Given the description of an element on the screen output the (x, y) to click on. 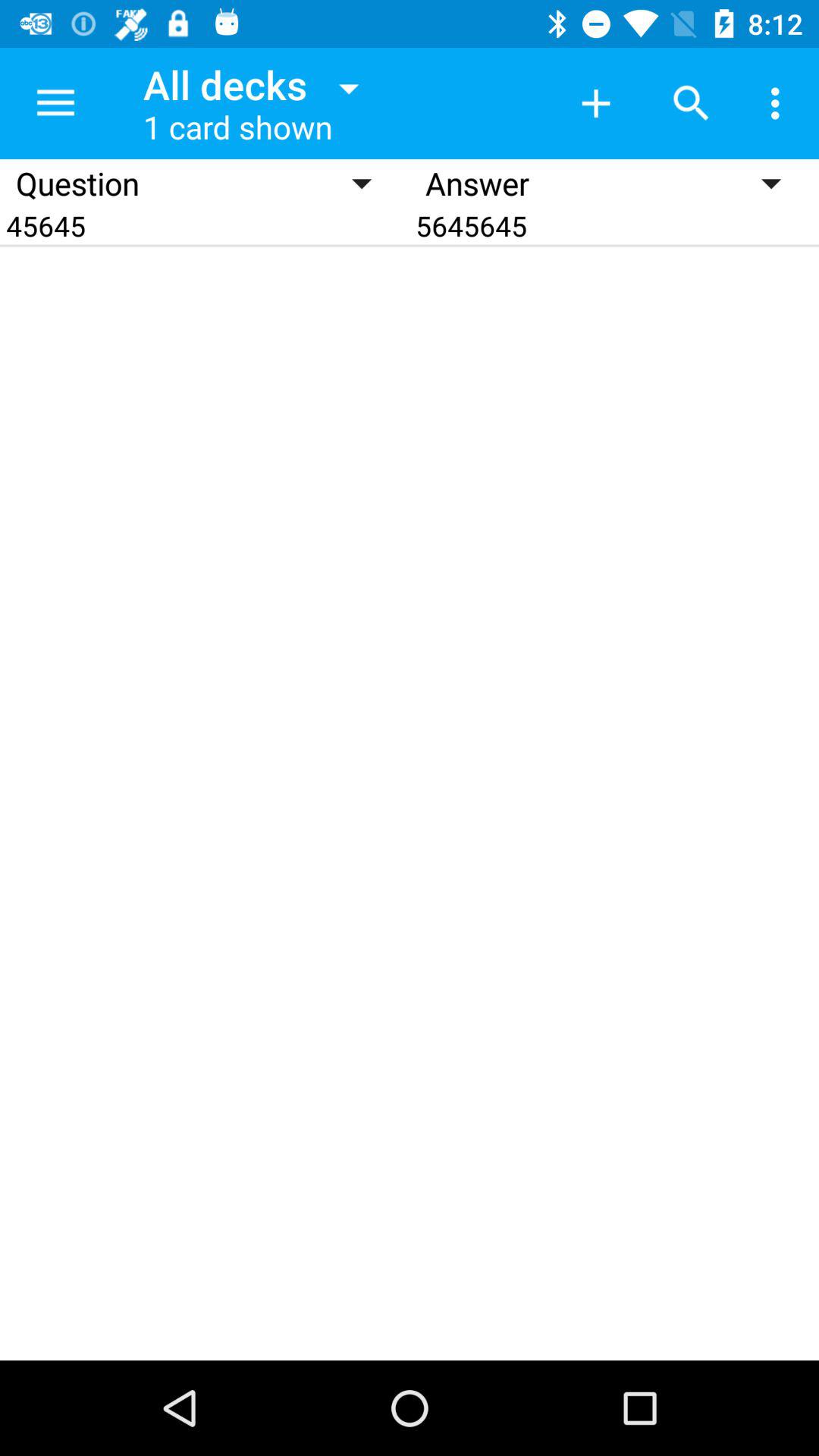
choose the icon to the left of answer (204, 225)
